Given the description of an element on the screen output the (x, y) to click on. 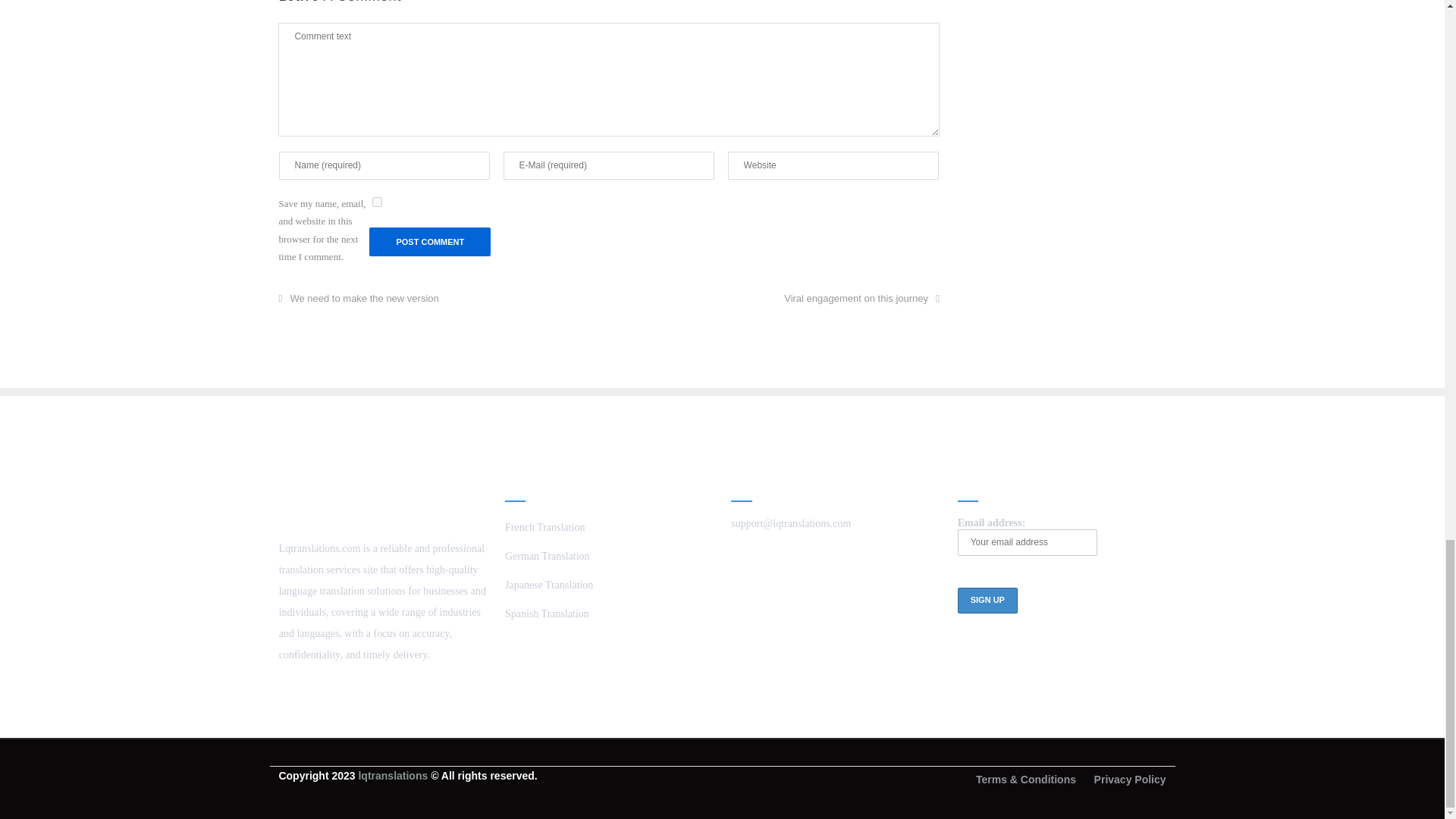
Sign up (987, 600)
lqtranslations (393, 775)
Spanish Translation (547, 613)
French Translation (545, 527)
Viral engagement on this journey (861, 297)
Japanese Translation (548, 584)
Post comment (429, 241)
German Translation (547, 555)
yes (376, 202)
Sign up (987, 600)
